Given the description of an element on the screen output the (x, y) to click on. 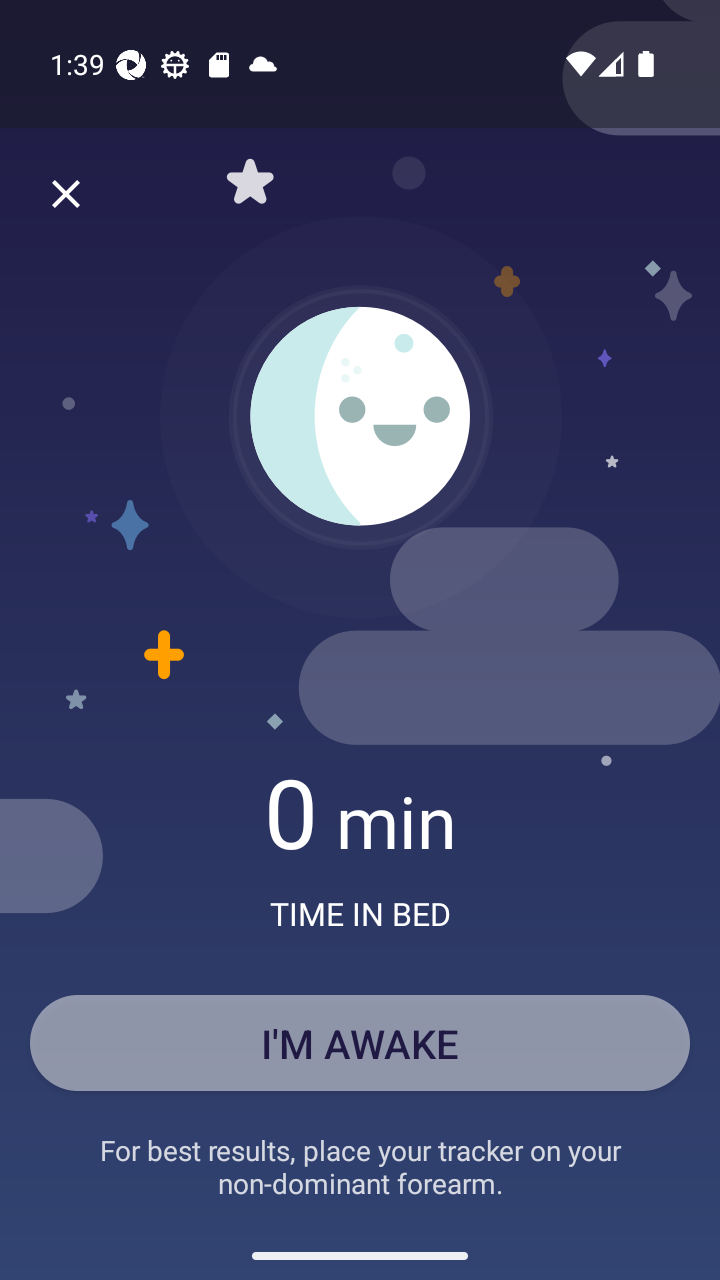
Close (65, 193)
I'M AWAKE (359, 1042)
